Given the description of an element on the screen output the (x, y) to click on. 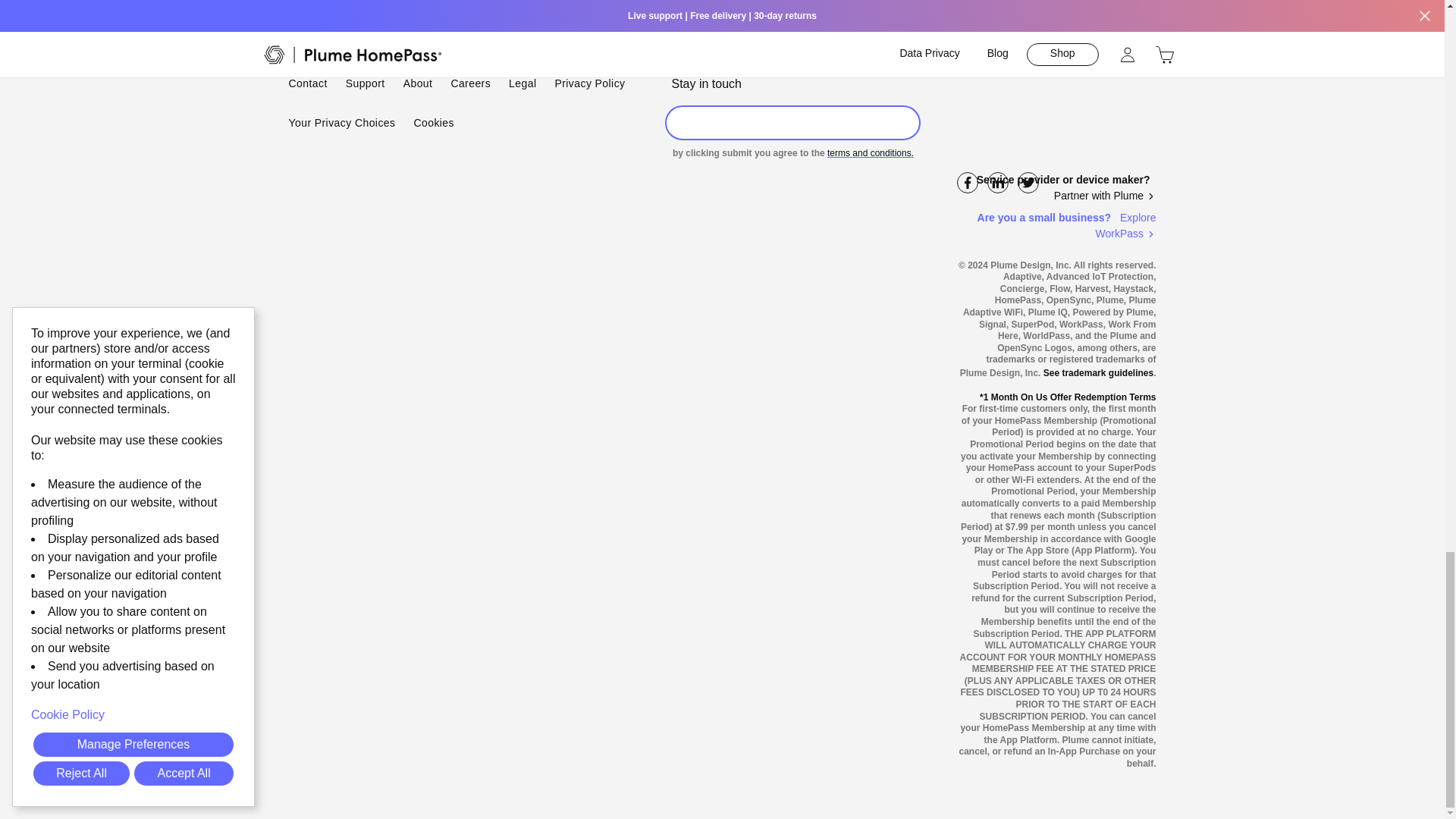
Privacy Policy (589, 84)
Cookies (433, 123)
Are you a small business? Explore WorkPass (1056, 225)
Contact (307, 84)
Careers (469, 84)
Legal (521, 84)
About (417, 84)
See trademark guidelines (1098, 372)
Service provider or device maker? Partner with Plume (1056, 187)
Your Privacy Choices (341, 123)
terms and conditions. (870, 153)
Support (365, 84)
